Given the description of an element on the screen output the (x, y) to click on. 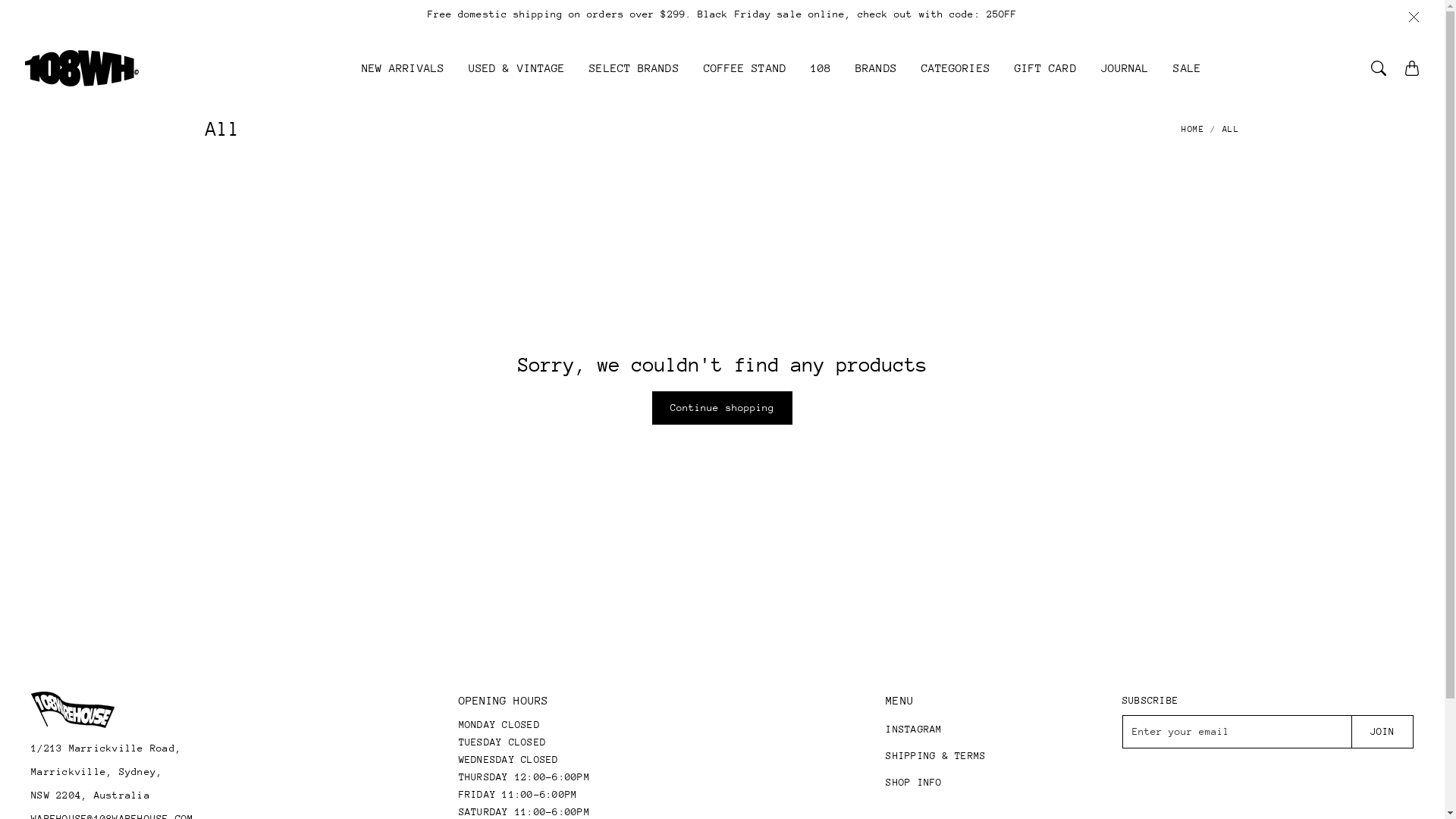
108 Element type: text (820, 80)
COFFEE STAND Element type: text (744, 80)
USED & VINTAGE Element type: text (516, 80)
Format: xxx@xxx.xxx Element type: hover (1237, 731)
INSTAGRAM Element type: text (935, 728)
JOIN Element type: text (1382, 731)
GIFT CARD Element type: text (1045, 80)
HOME Element type: text (1192, 129)
SELECT BRANDS Element type: text (633, 80)
CATEGORIES Element type: text (955, 80)
BRANDS Element type: text (876, 80)
NEW ARRIVALS Element type: text (402, 80)
SHIPPING & TERMS Element type: text (935, 755)
SALE Element type: text (1186, 80)
JOURNAL Element type: text (1125, 80)
Skip to content Element type: text (0, 0)
SHOP INFO Element type: text (935, 781)
Continue shopping Element type: text (722, 407)
